Given the description of an element on the screen output the (x, y) to click on. 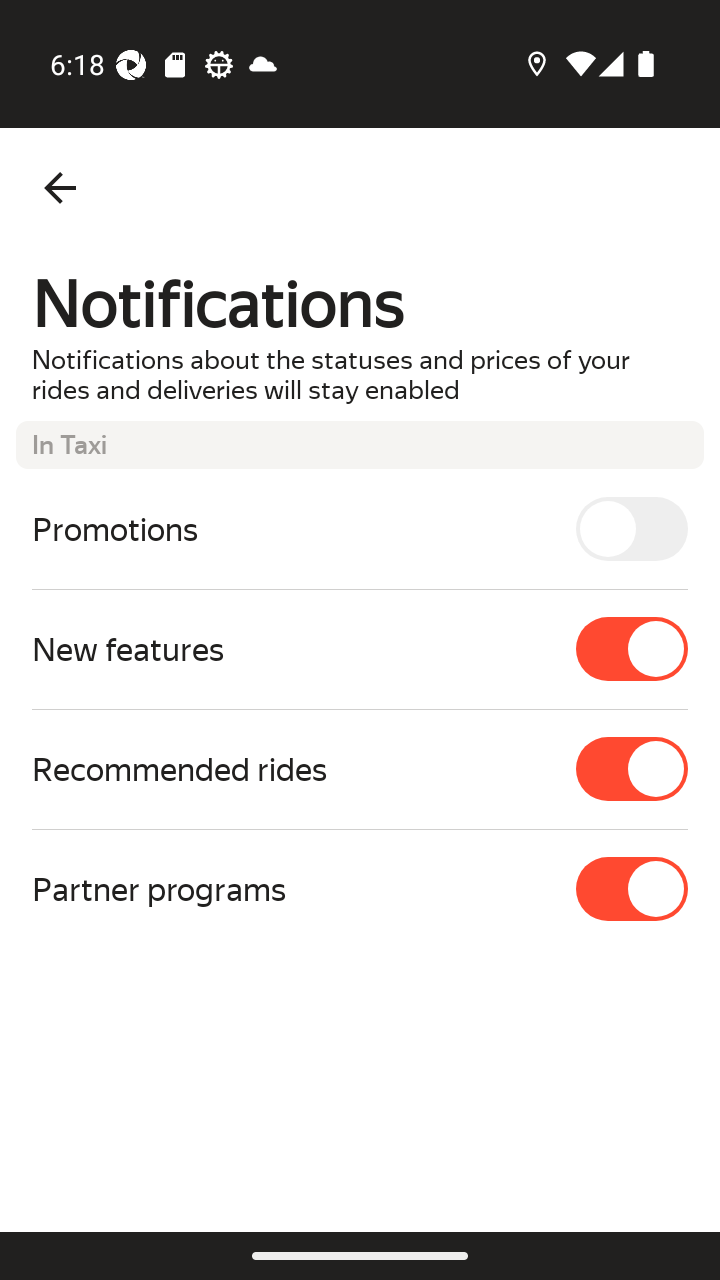
Back (60, 188)
Promotions (360, 528)
New features (360, 648)
Recommended rides (360, 769)
Partner programs (360, 888)
